Given the description of an element on the screen output the (x, y) to click on. 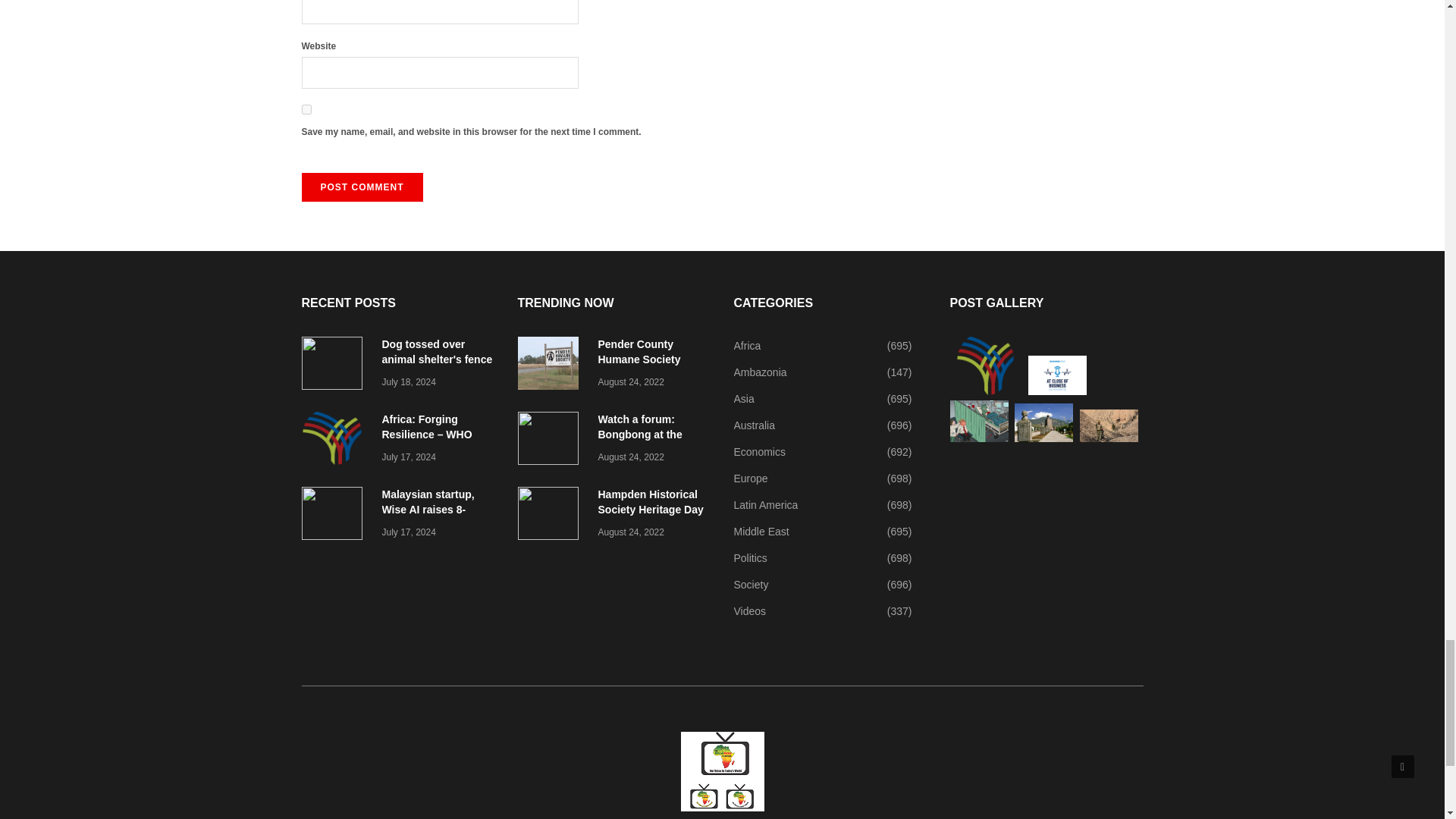
Post Comment (362, 186)
yes (306, 109)
